Given the description of an element on the screen output the (x, y) to click on. 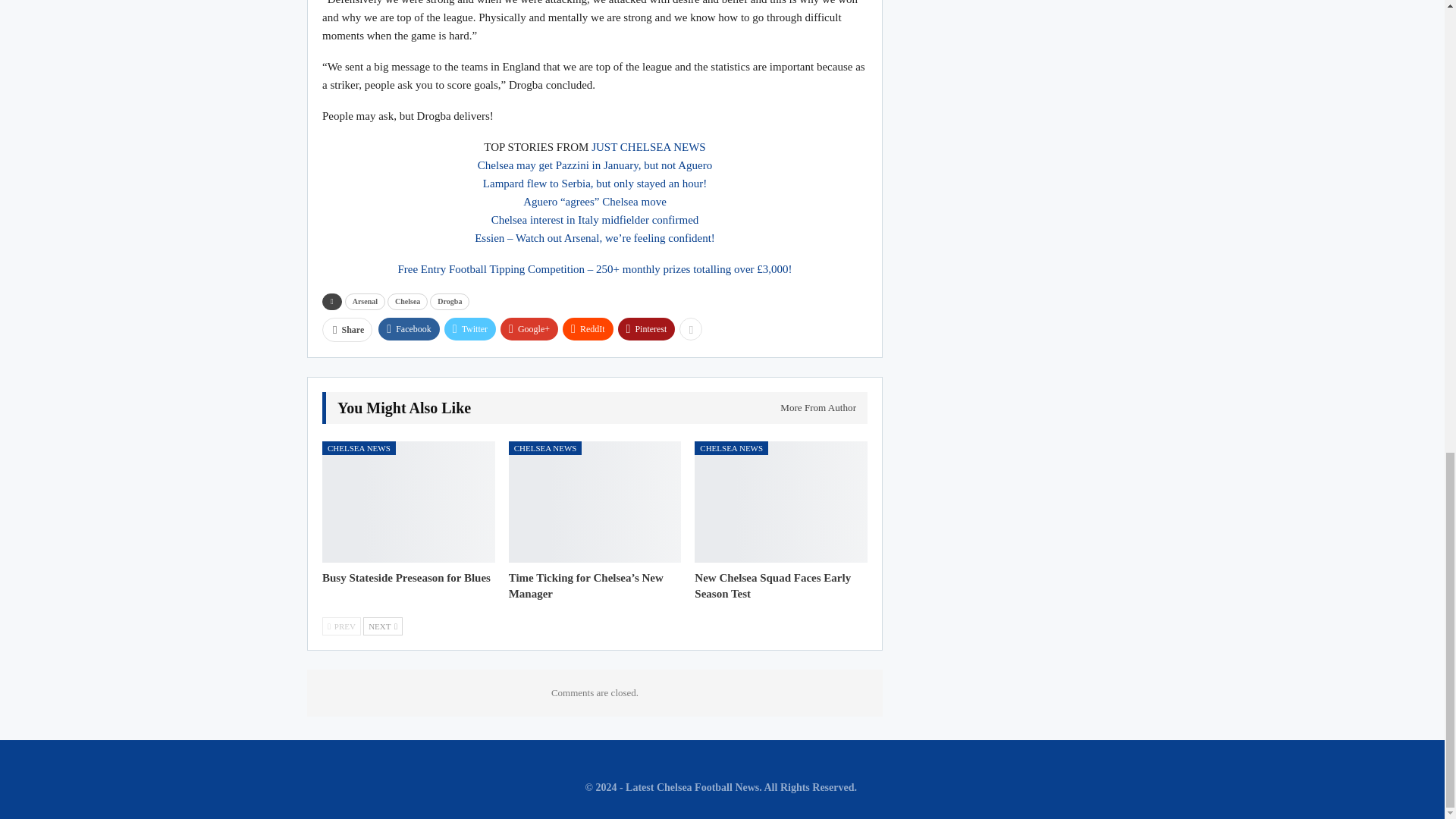
Next (382, 626)
Twitter (470, 328)
New Chelsea Squad Faces Early Season Test (772, 585)
Chelsea interest in Italy midfielder confirmed (595, 219)
Busy Stateside Preseason for Blues (405, 577)
Lampard flew to Serbia, but only stayed an hour! (594, 183)
Arsenal (365, 301)
Busy Stateside Preseason for Blues (408, 501)
Facebook (408, 328)
Chelsea may get Pazzini in January, but not Aguero (594, 164)
ReddIt (587, 328)
Previous (341, 626)
New Chelsea Squad Faces Early Season Test (780, 501)
Drogba (448, 301)
Pinterest (646, 328)
